Given the description of an element on the screen output the (x, y) to click on. 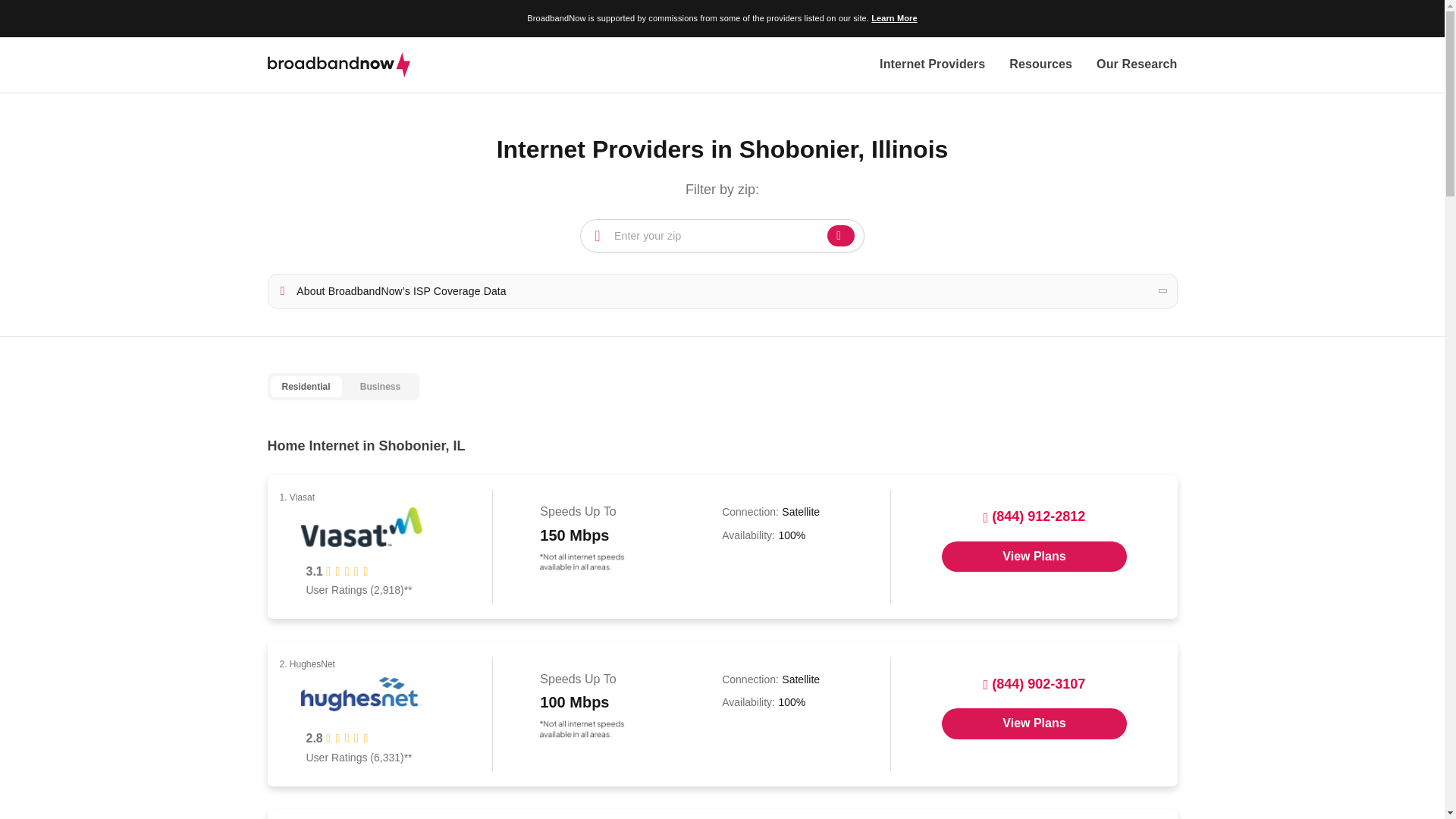
Opens in a new window (1034, 723)
Resources (1040, 64)
Opens in a new window (1034, 556)
Our Research (1136, 64)
Learn More (893, 17)
Internet Providers (932, 64)
Residential (305, 386)
